Given the description of an element on the screen output the (x, y) to click on. 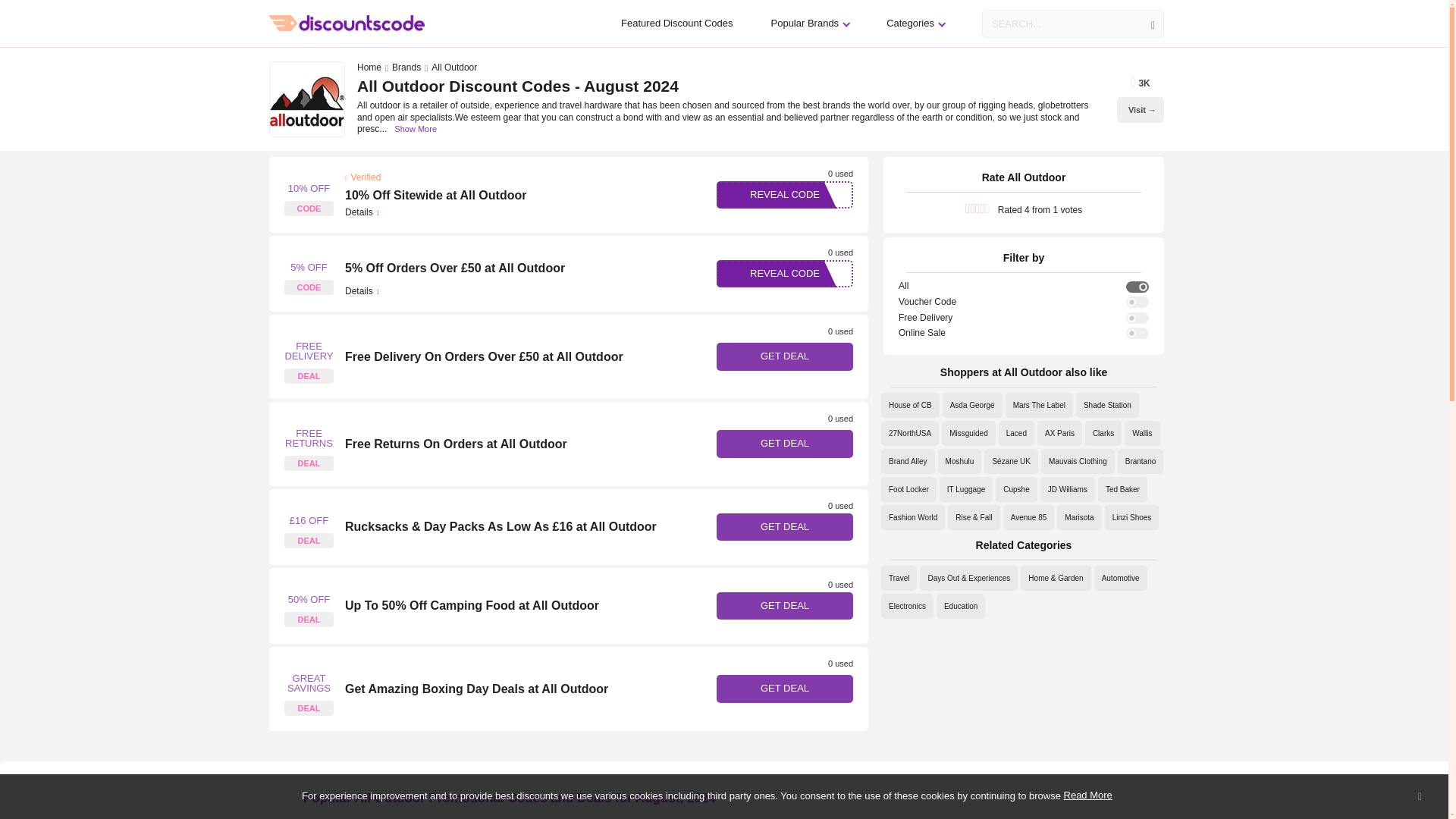
Top 20 Discounts (676, 23)
All Outdoor (308, 273)
Get Deal (784, 605)
All Outdoor (308, 357)
All Outdoor (308, 443)
Categories (914, 23)
Popular Brands (809, 23)
All Outdoor (308, 605)
Go to DiscountsCode Home (347, 23)
All Outdoor (308, 526)
